Given the description of an element on the screen output the (x, y) to click on. 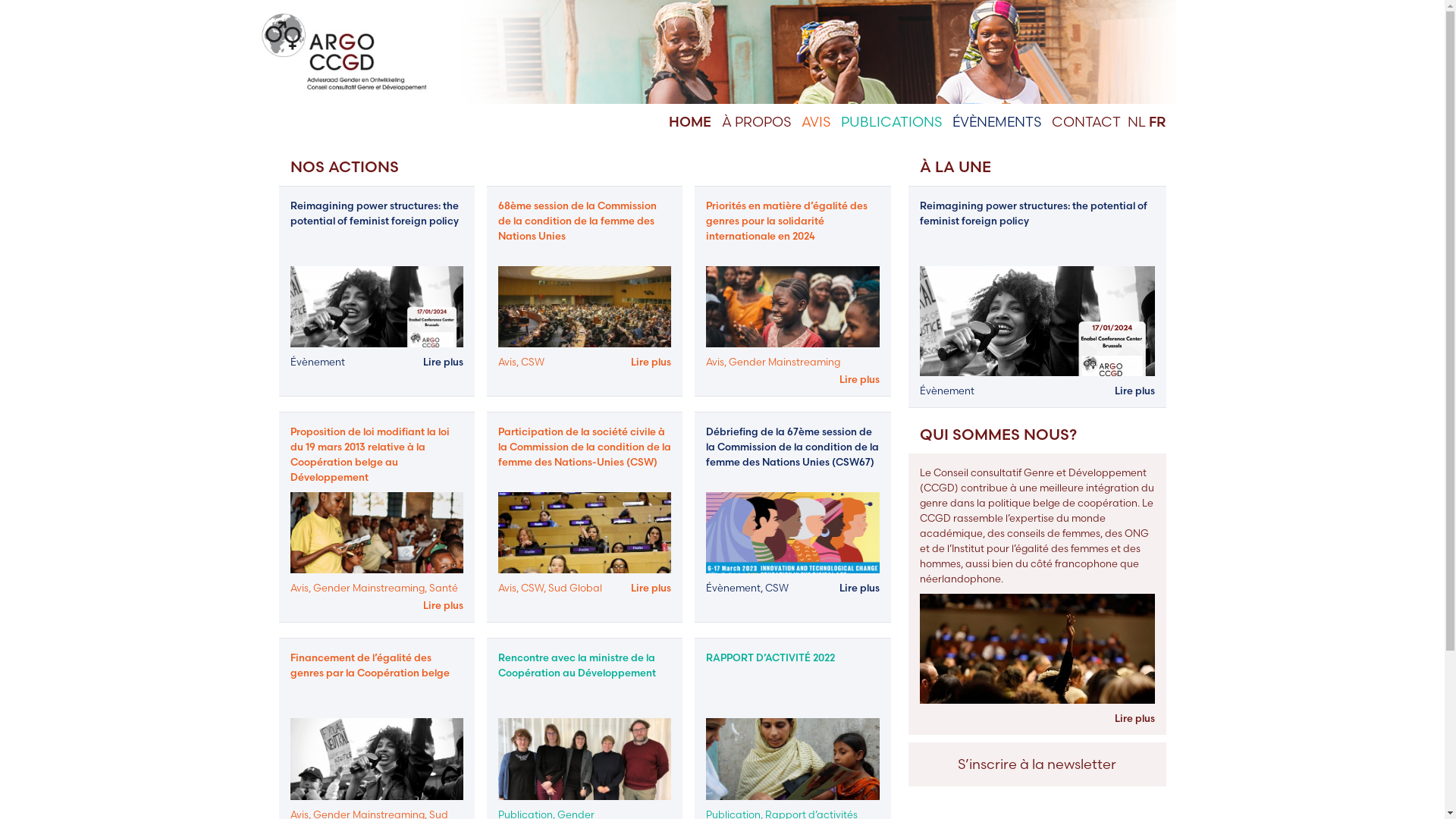
Lire plus Element type: text (443, 361)
AVIS Element type: text (814, 121)
Lire plus Element type: text (1134, 718)
Lire plus Element type: text (443, 605)
CSW Element type: text (531, 587)
Sud Global Element type: text (575, 587)
HOME Element type: text (689, 121)
PUBLICATIONS Element type: text (890, 121)
Lire plus Element type: text (1134, 390)
Avis Element type: text (507, 361)
Avis Element type: text (507, 587)
NL Element type: text (1135, 121)
Avis Element type: text (298, 587)
FR Element type: text (1156, 121)
Avis Element type: text (715, 361)
Gender Mainstreaming Element type: text (367, 587)
CSW Element type: text (532, 361)
Gender Mainstreaming Element type: text (784, 361)
Lire plus Element type: text (650, 361)
Lire plus Element type: text (859, 587)
CSW Element type: text (776, 587)
CONTACT Element type: text (1085, 121)
Lire plus Element type: text (859, 379)
Lire plus Element type: text (650, 587)
